Given the description of an element on the screen output the (x, y) to click on. 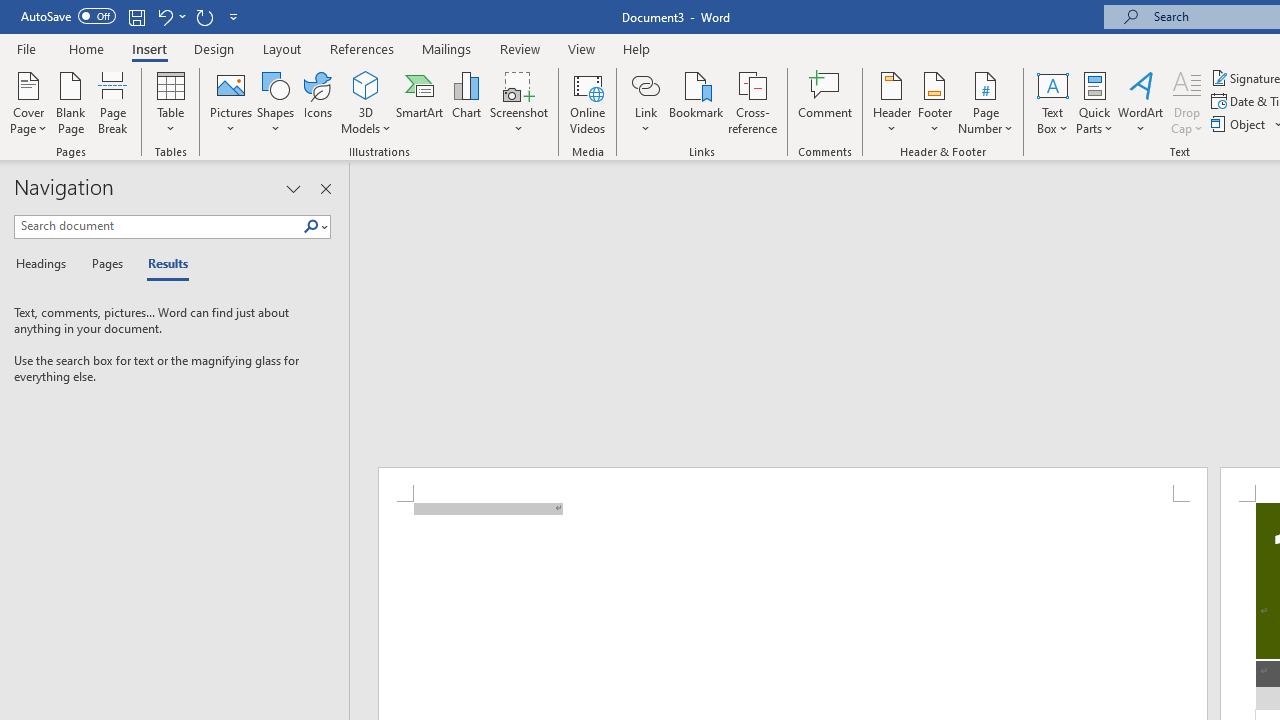
Page Number (986, 102)
Comment (825, 102)
Footer (934, 102)
Table (170, 102)
Header (891, 102)
Icons (317, 102)
Undo New Page (164, 15)
